Given the description of an element on the screen output the (x, y) to click on. 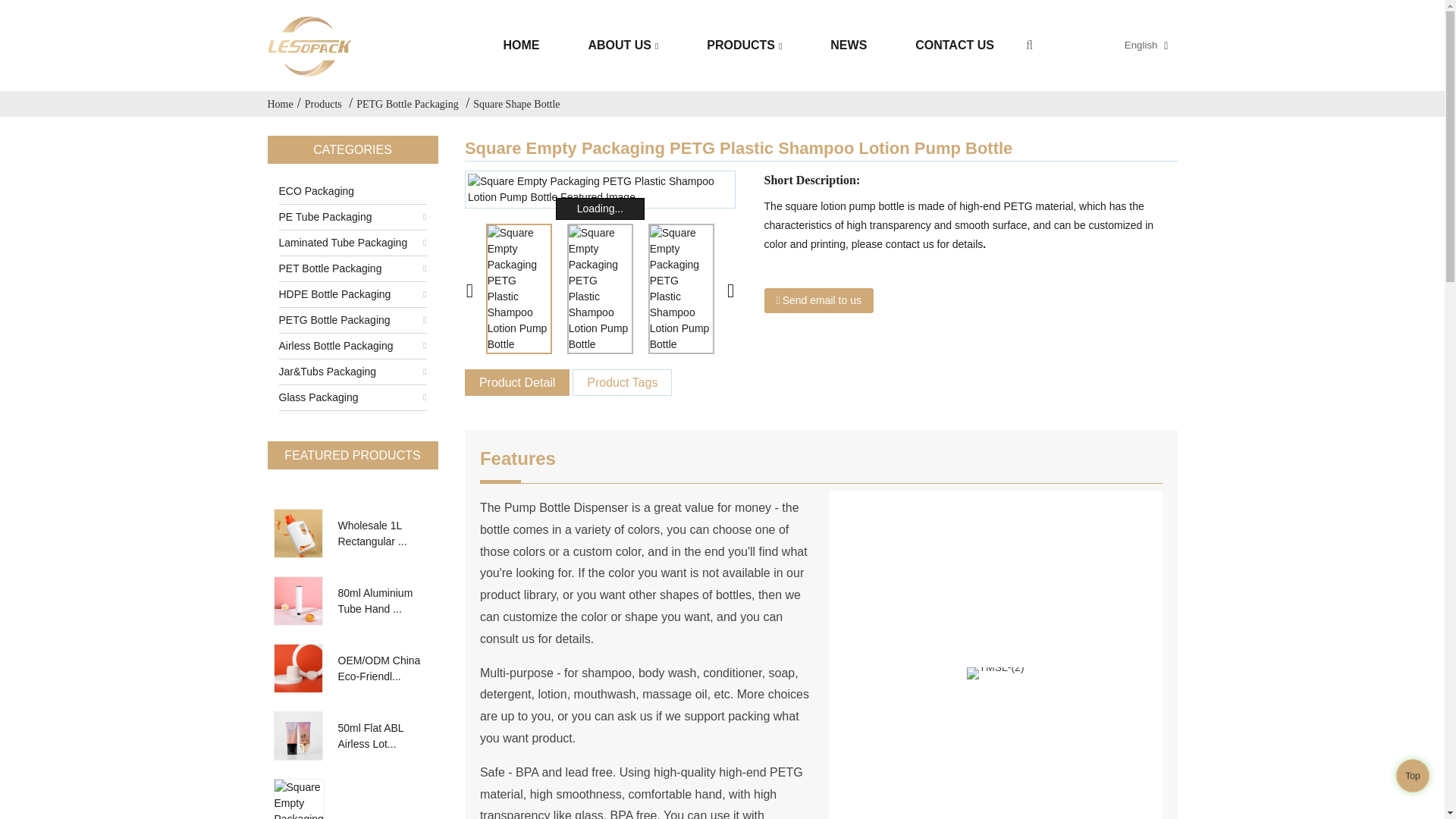
ABOUT US (622, 45)
PRODUCTS (744, 45)
HOME (521, 45)
